Given the description of an element on the screen output the (x, y) to click on. 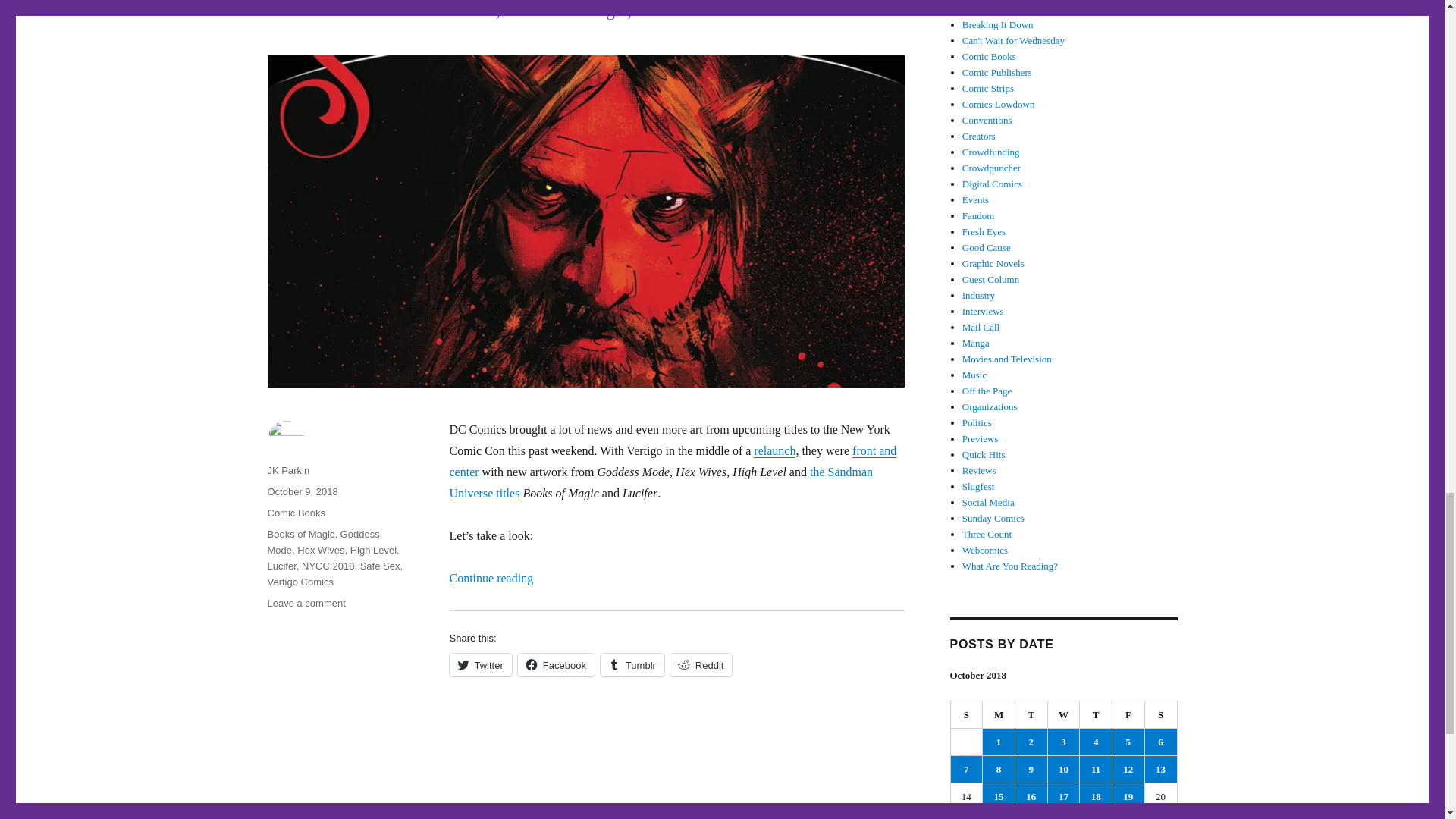
Tuesday (1031, 714)
Click to share on Reddit (700, 664)
Wednesday (1064, 714)
Facebook (556, 664)
Friday (1128, 714)
Twitter (479, 664)
Reddit (700, 664)
Saturday (1160, 714)
Tumblr (631, 664)
October 9, 2018 (301, 491)
